Given the description of an element on the screen output the (x, y) to click on. 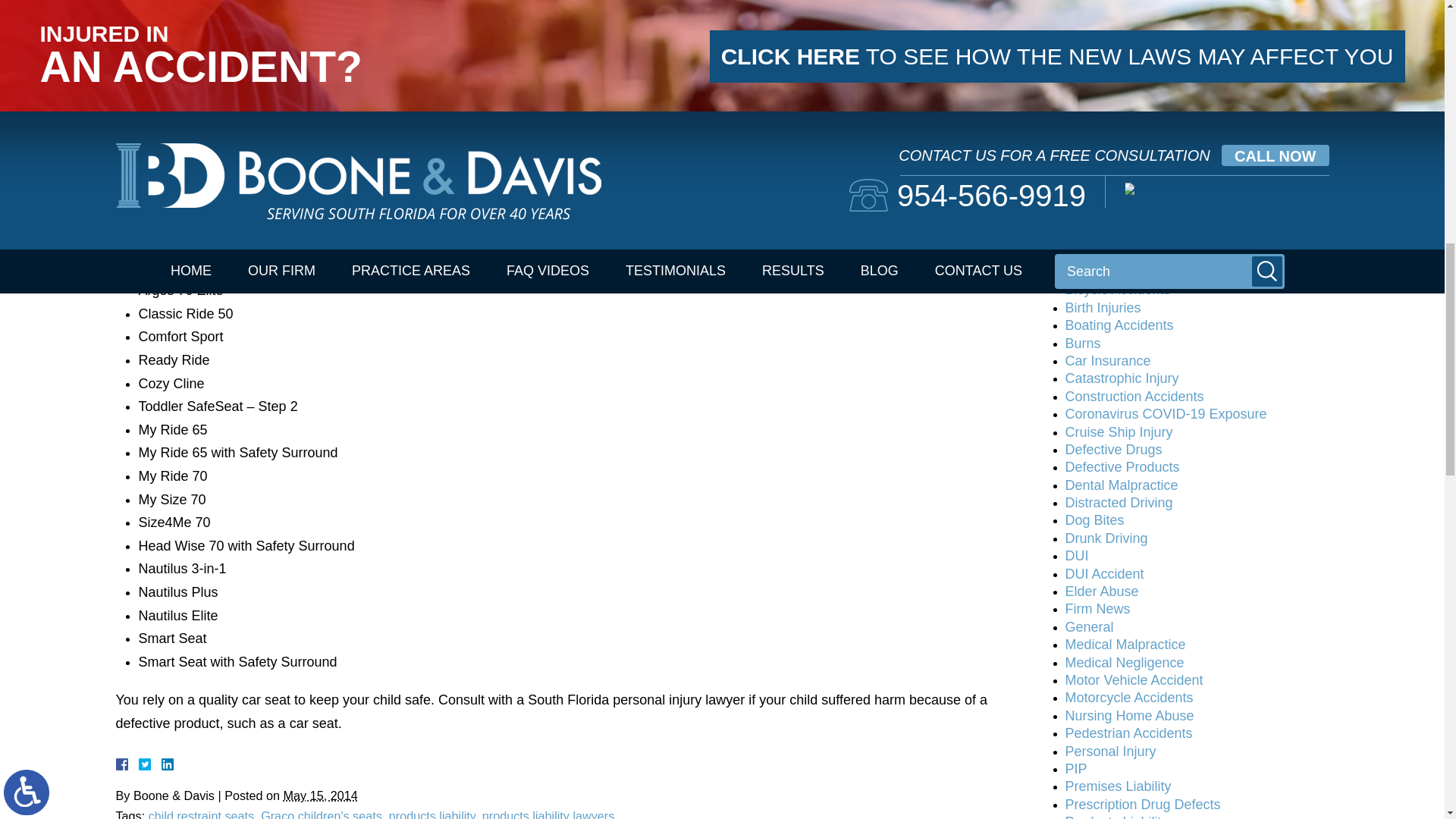
Facebook (139, 764)
LinkedIn (160, 764)
2014-05-15T14:11:23-0700 (320, 795)
Twitter (149, 764)
